Given the description of an element on the screen output the (x, y) to click on. 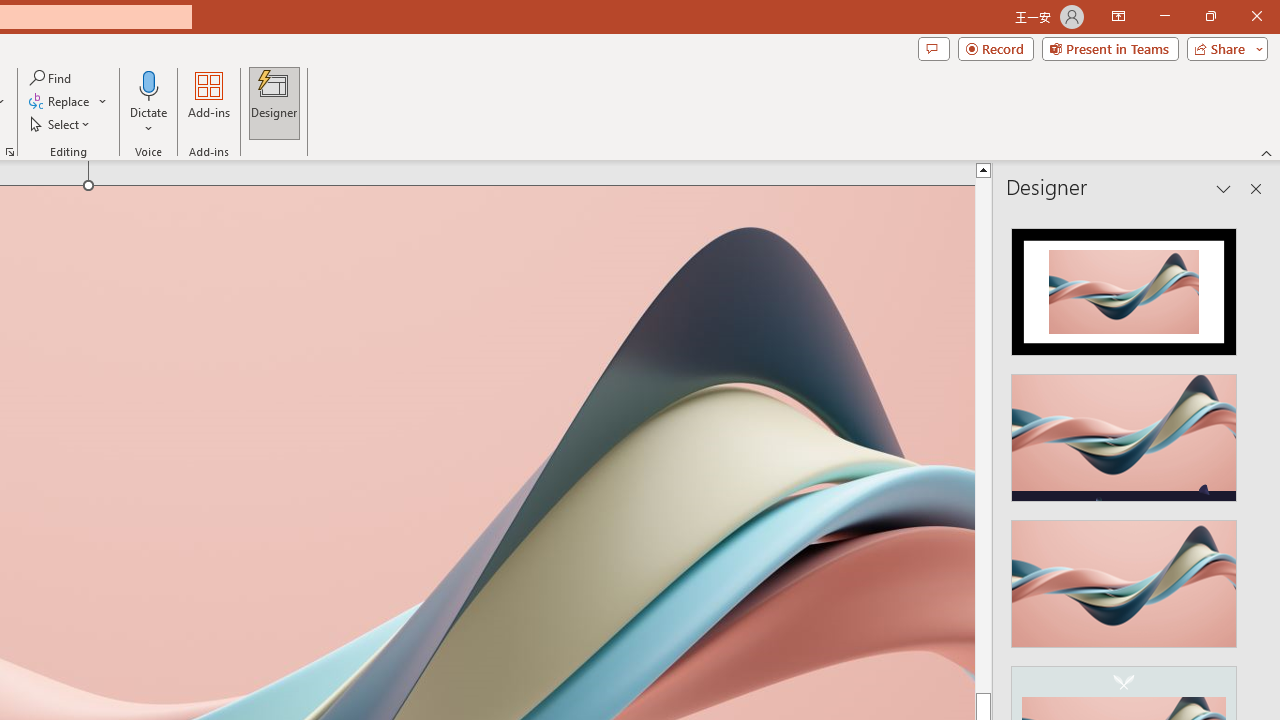
Recommended Design: Design Idea (1124, 286)
